Given the description of an element on the screen output the (x, y) to click on. 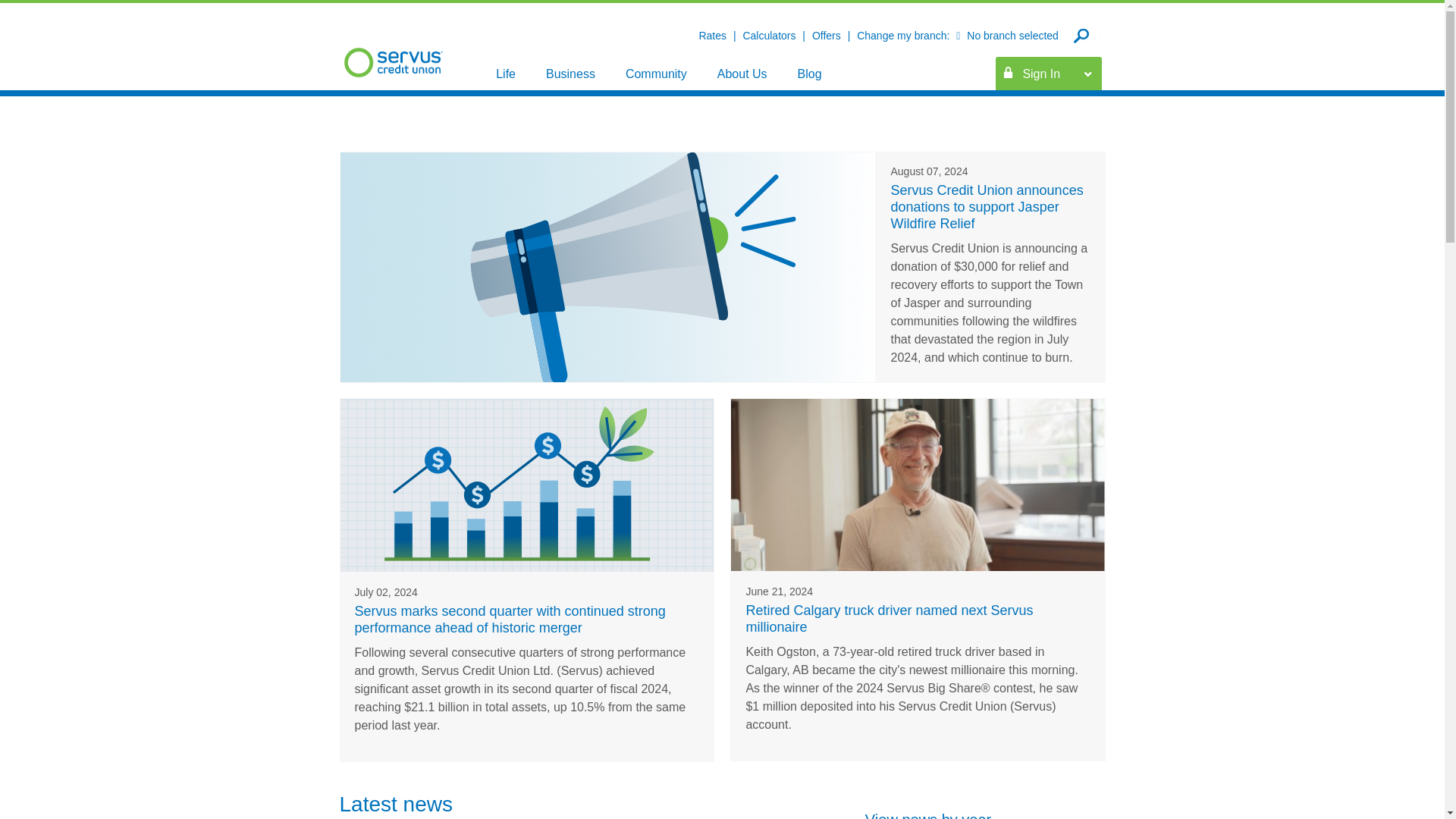
Offers (828, 35)
Blog (810, 73)
Life (505, 73)
Business (570, 73)
Go (1241, 35)
Life (505, 73)
Sign In (1041, 73)
About Us (742, 73)
Rates (713, 35)
About Us (742, 73)
